Given the description of an element on the screen output the (x, y) to click on. 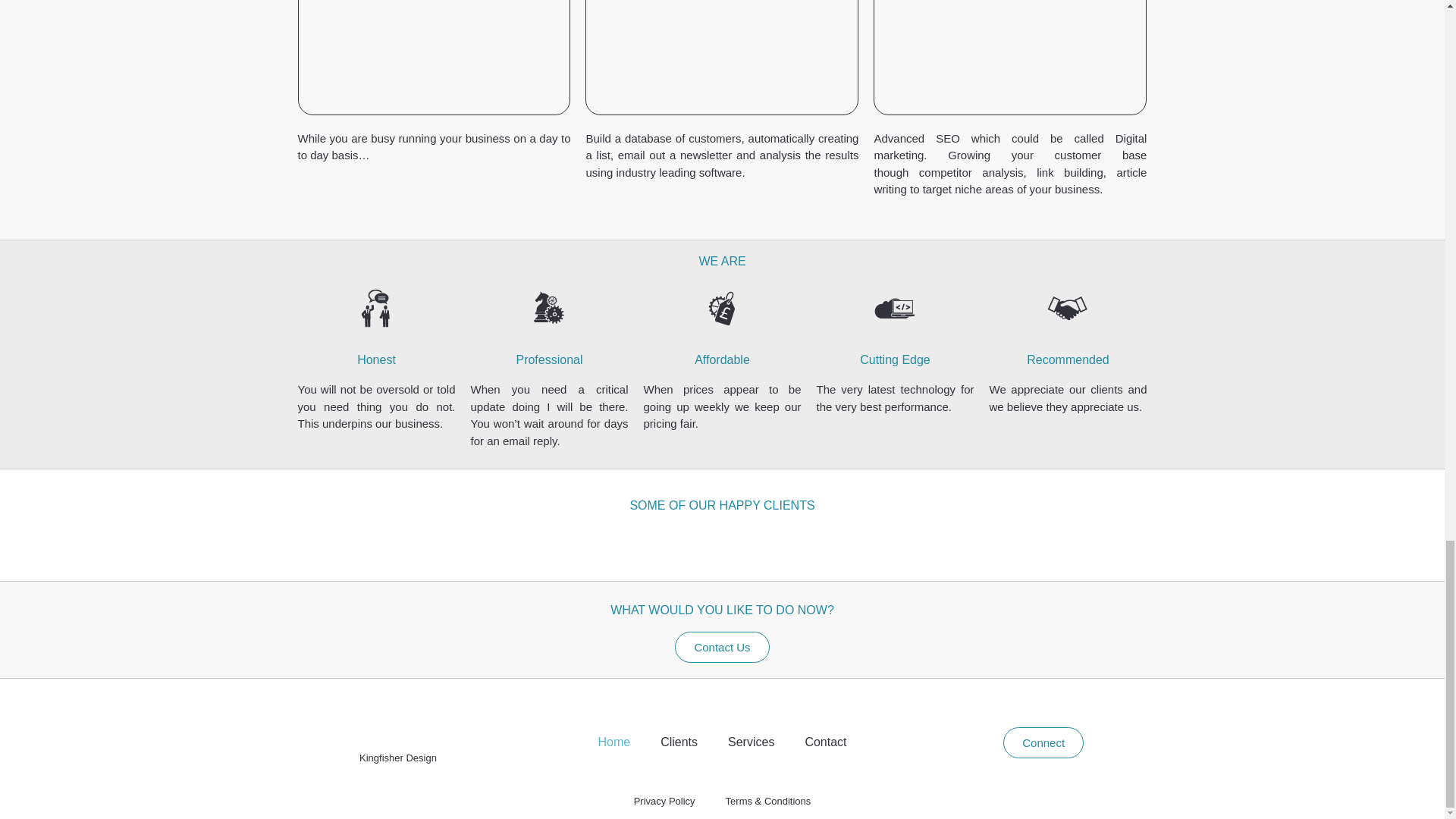
Contact (825, 742)
Contact Us (721, 646)
Services (751, 742)
Clients (679, 742)
Connect (1043, 742)
Home (613, 742)
